Given the description of an element on the screen output the (x, y) to click on. 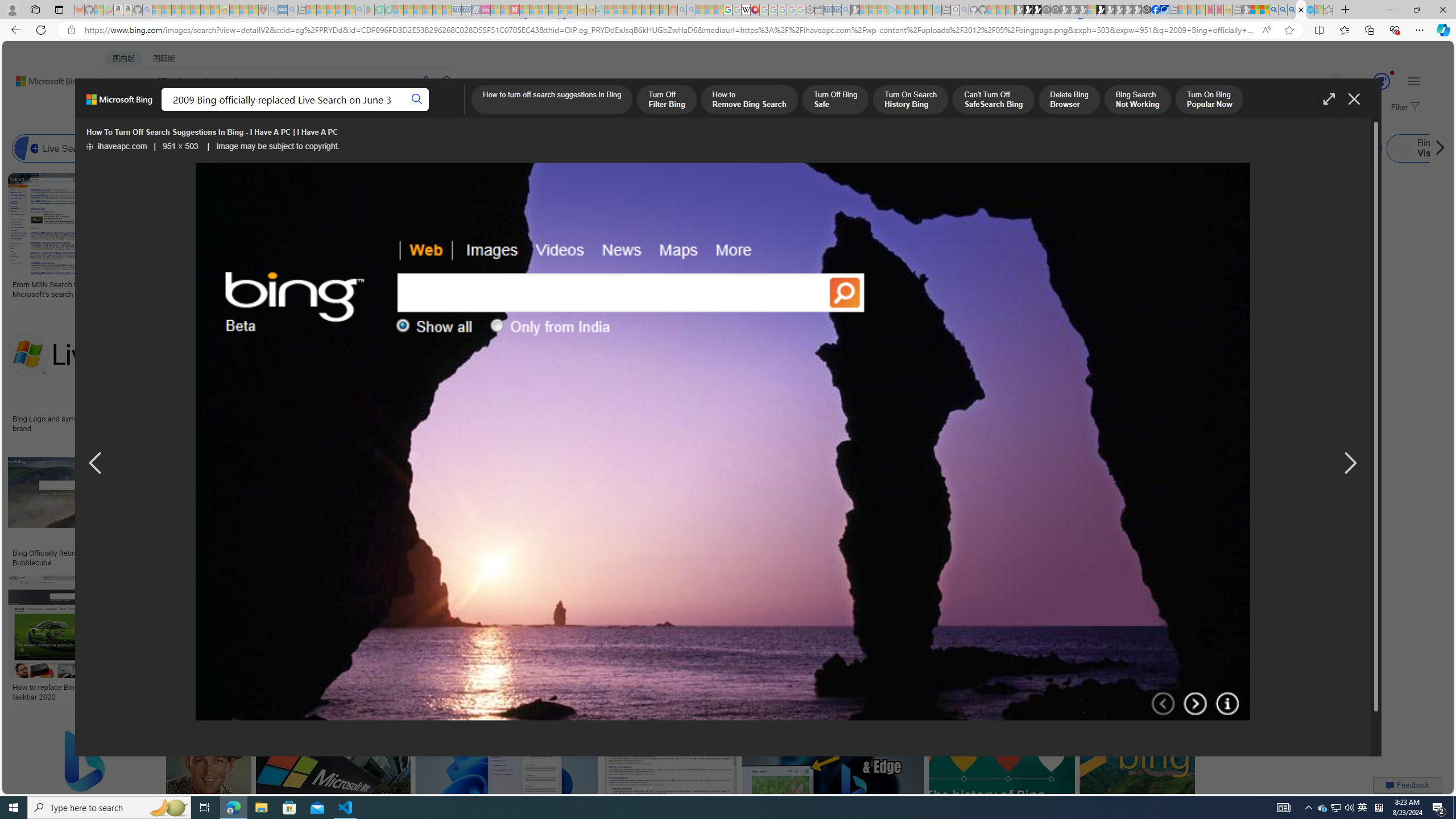
Microsoft Start Gaming - Sleeping (854, 9)
Bing Word Search (368, 148)
Turn On Bing Popular Now (1208, 100)
How to turn off search suggestions in Bing (550, 100)
MSN Homepage Bing Search Engine (815, 148)
Image may be subject to copyright. (277, 146)
Bing: rebranding search: idsgn (a design blog) (699, 289)
Bing Ai Search Engine Powered (536, 148)
